Given the description of an element on the screen output the (x, y) to click on. 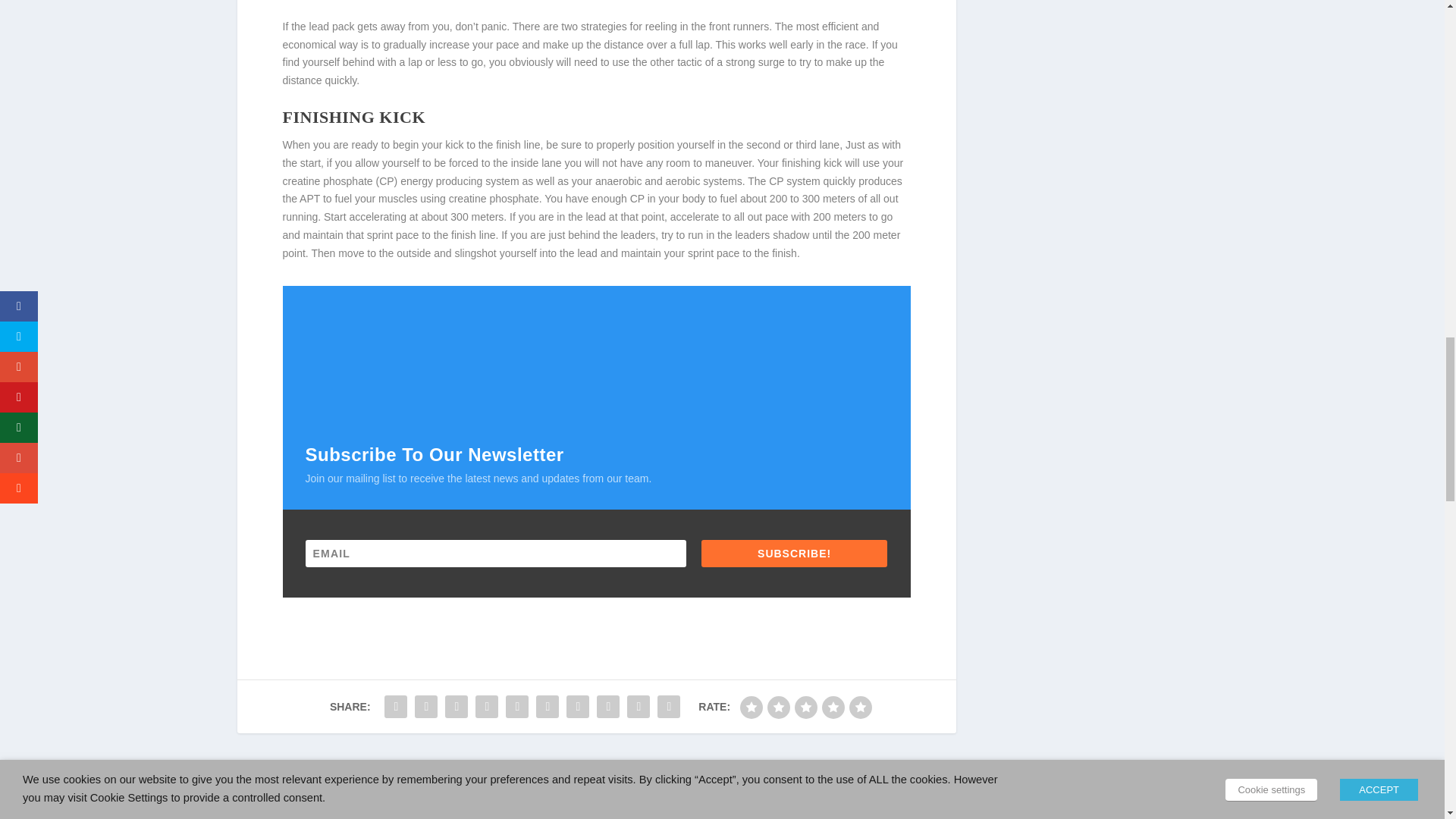
Share "Mile and 1500 Meter Race Strategy" via Buffer (577, 706)
Share "Mile and 1500 Meter Race Strategy" via Twitter (425, 706)
Share "Mile and 1500 Meter Race Strategy" via Facebook (395, 706)
Share "Mile and 1500 Meter Race Strategy" via LinkedIn (547, 706)
Share "Mile and 1500 Meter Race Strategy" via Pinterest (517, 706)
Share "Mile and 1500 Meter Race Strategy" via Stumbleupon (607, 706)
Share "Mile and 1500 Meter Race Strategy" via Tumblr (486, 706)
Share "Mile and 1500 Meter Race Strategy" via Email (638, 706)
Share "Mile and 1500 Meter Race Strategy" via Print (668, 706)
